Given the description of an element on the screen output the (x, y) to click on. 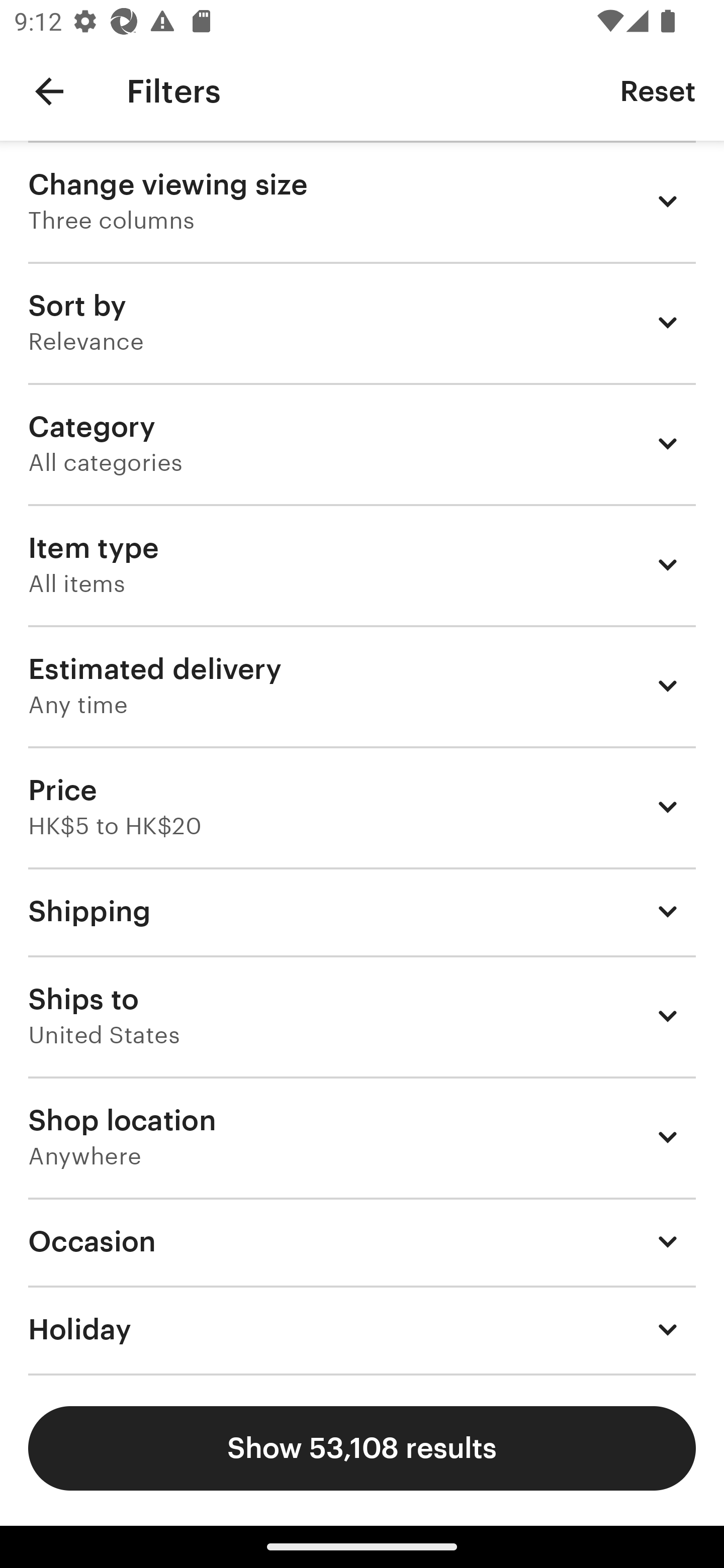
Navigate up (49, 91)
Reset (657, 90)
Change viewing size Three columns (362, 201)
Sort by Relevance (362, 321)
Category All categories (362, 442)
Item type All items (362, 564)
Estimated delivery Any time (362, 685)
Price HK$5 to HK$20 (362, 806)
Shipping (362, 910)
Ships to United States (362, 1015)
Shop location Anywhere (362, 1137)
Occasion (362, 1241)
Holiday (362, 1329)
Show 53,108 results Show results (361, 1448)
